Given the description of an element on the screen output the (x, y) to click on. 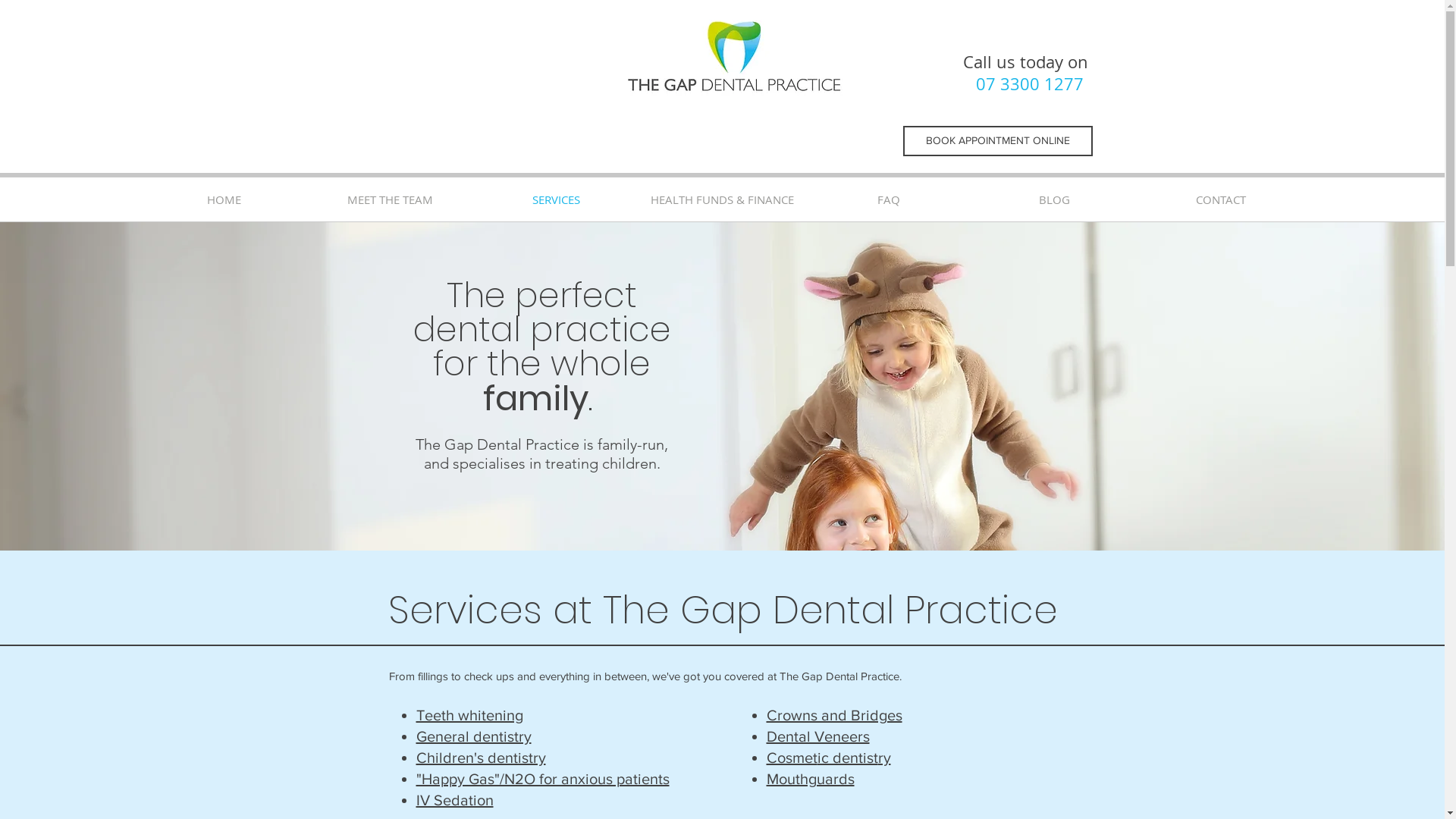
FAQ Element type: text (888, 199)
Dental Veneers Element type: text (817, 736)
Teeth whitening Element type: text (468, 714)
SERVICES Element type: text (556, 199)
IV Sedation Element type: text (453, 799)
"Happy Gas"/N2O for anxious patients Element type: text (541, 778)
MEET THE TEAM Element type: text (390, 199)
CONTACT Element type: text (1220, 199)
HOME Element type: text (224, 199)
Children's dentistry Element type: text (480, 757)
Cosmetic dentistry Element type: text (827, 757)
BOOK APPOINTMENT ONLINE Element type: text (997, 140)
BLOG Element type: text (1054, 199)
HEALTH FUNDS & FINANCE Element type: text (722, 199)
General dentistry Element type: text (472, 736)
Mouthguards Element type: text (809, 778)
Crowns and Bridges Element type: text (833, 714)
